Given the description of an element on the screen output the (x, y) to click on. 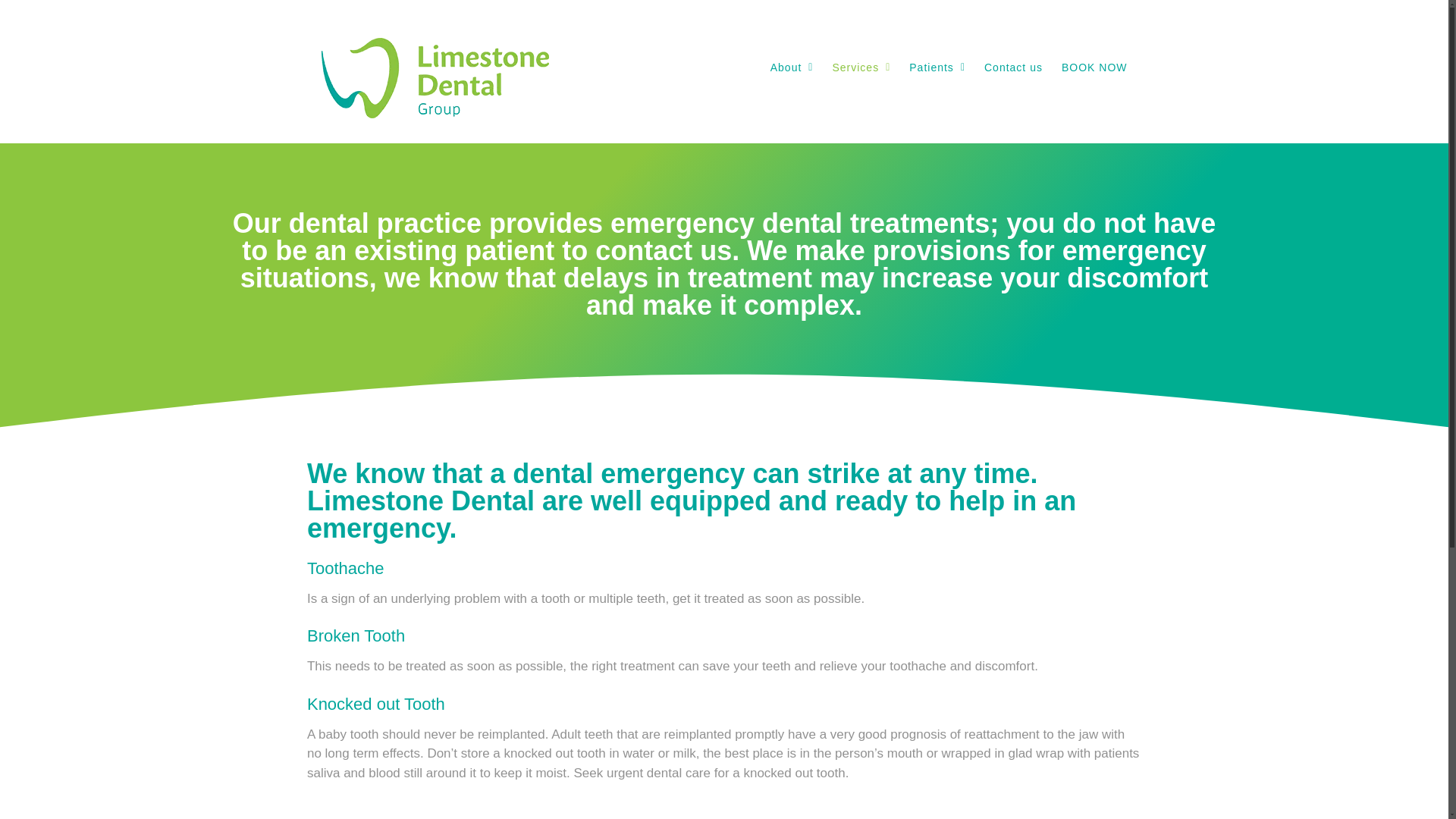
BOOK NOW (1093, 66)
About (791, 66)
Patients (936, 66)
Contact us (1013, 66)
Services (860, 66)
